Given the description of an element on the screen output the (x, y) to click on. 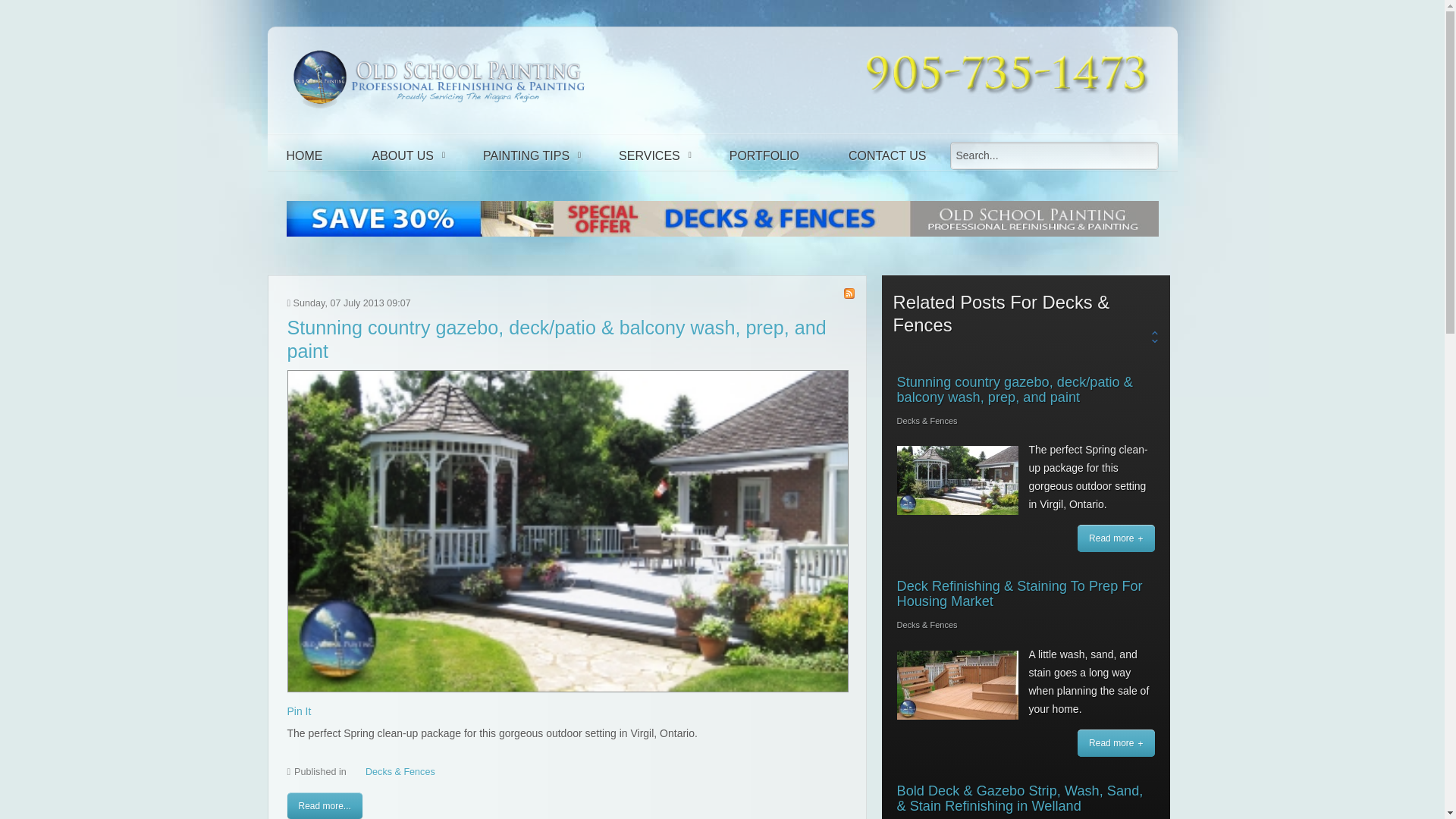
Subscribe to this RSS feed (849, 292)
Read more (1115, 538)
Search... (1053, 155)
ABOUT US (402, 154)
Read more (1115, 742)
HOME (303, 154)
CONTACT US (886, 154)
Read more... (323, 805)
SERVICES (648, 154)
PAINTING TIPS (526, 154)
